Given the description of an element on the screen output the (x, y) to click on. 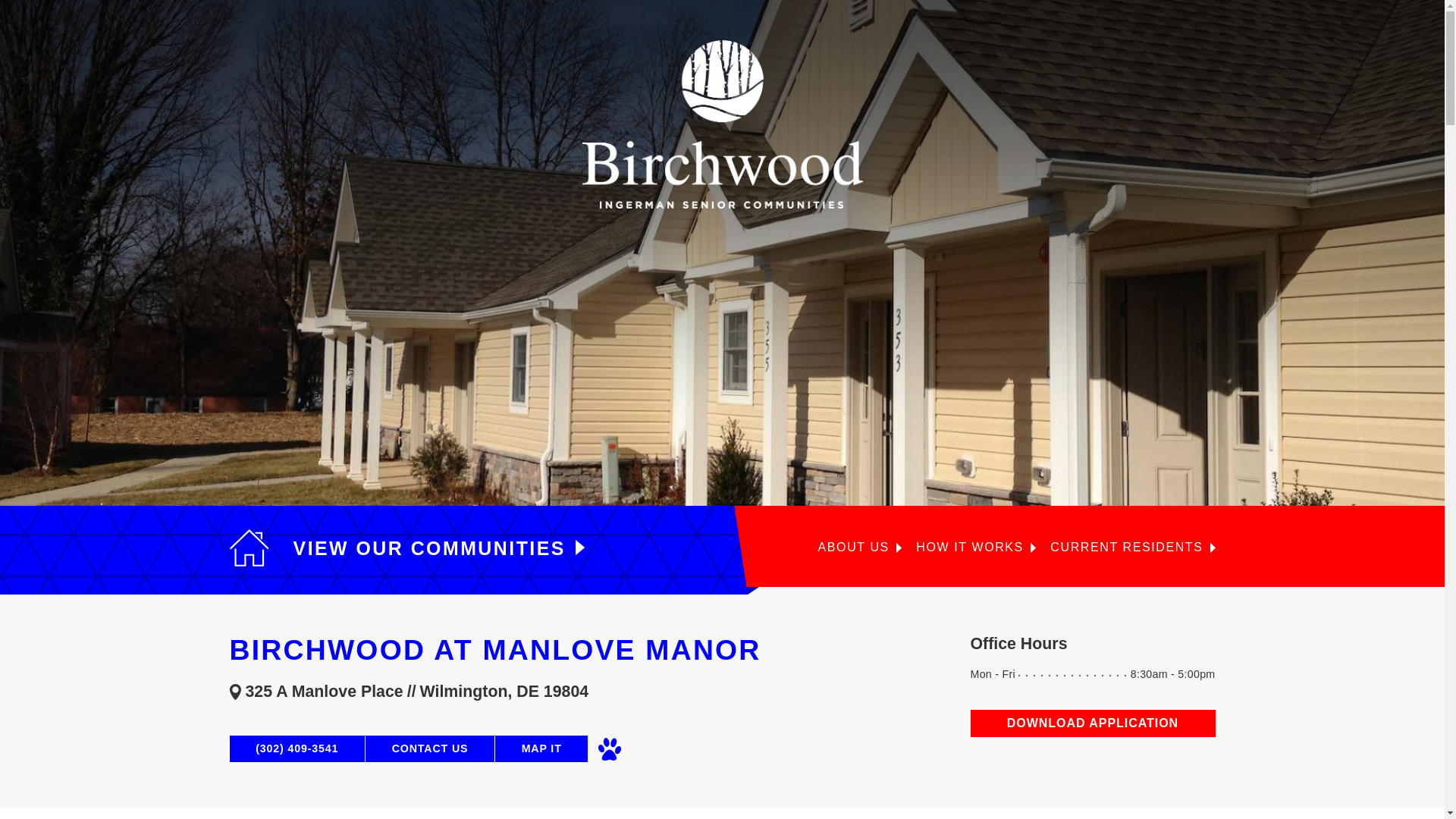
CONTACT US (430, 748)
DOWNLOAD APPLICATION (1093, 723)
Pet Friendly (609, 749)
325 A Manlove PlaceWilmington, DE 19804 (598, 691)
HOUSE (247, 547)
CURRENT RESIDENTS (1131, 547)
HOW IT WORKS (975, 547)
HOUSE VIEW OUR COMMUNITIES (405, 547)
MAP IT (541, 748)
ABOUT US (859, 547)
